Given the description of an element on the screen output the (x, y) to click on. 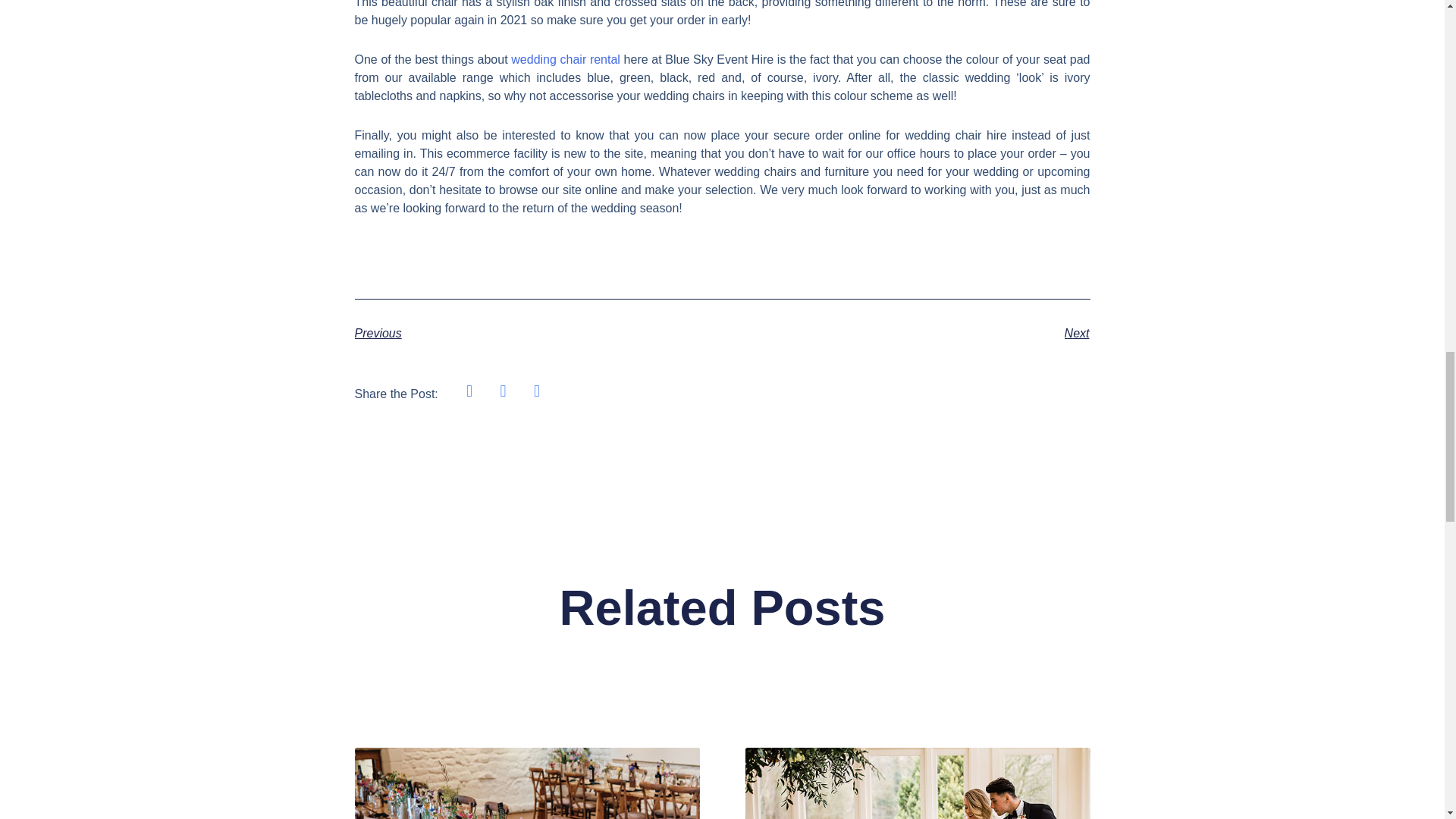
Next (905, 333)
wedding chair rental (565, 59)
Previous (538, 333)
